Given the description of an element on the screen output the (x, y) to click on. 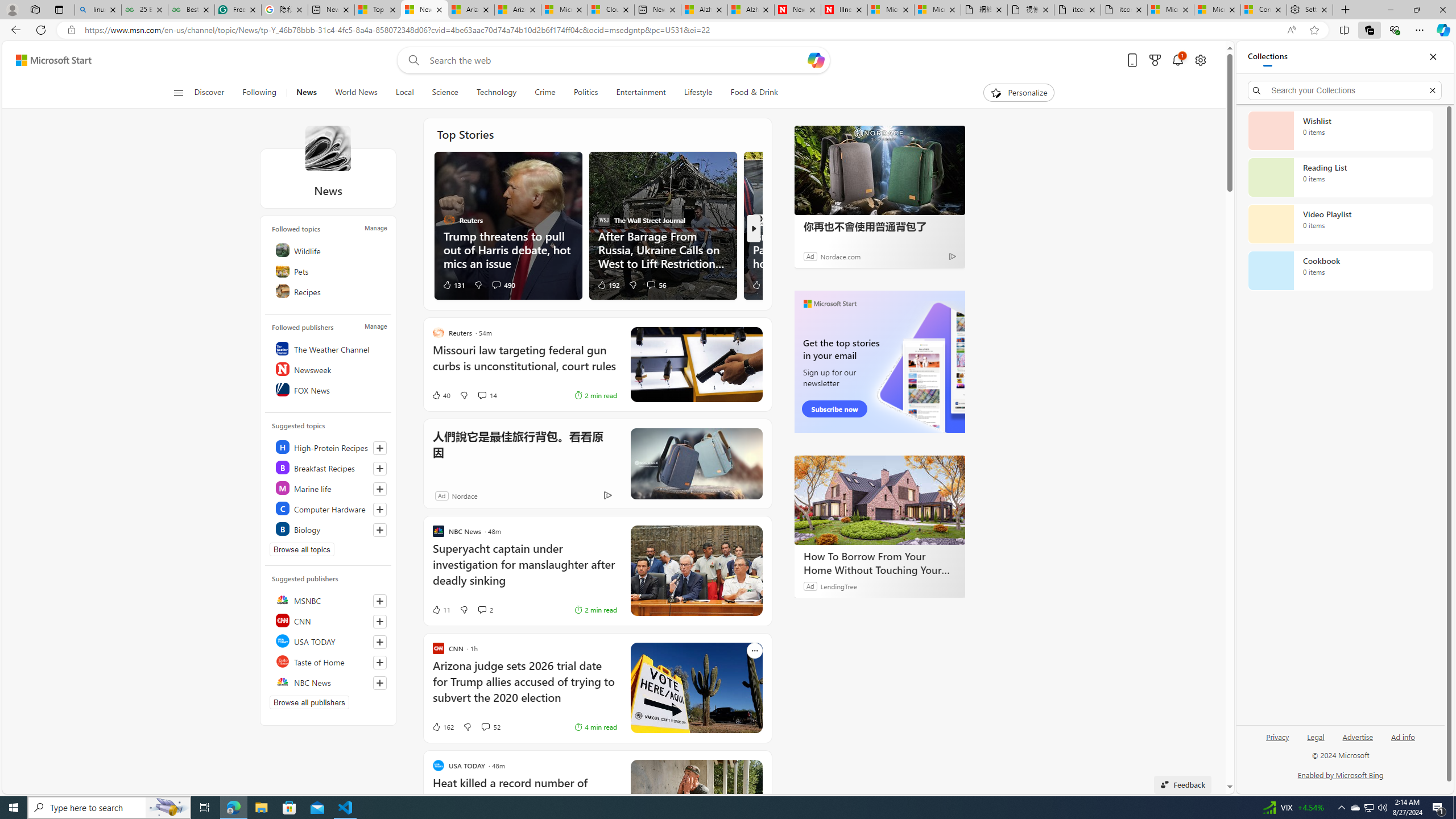
162 Like (442, 726)
View comments 56 Comment (650, 284)
Technology (496, 92)
Cookbook collection, 0 items (1339, 270)
Consumer Health Data Privacy Policy (1263, 9)
Crime (544, 92)
Search your Collections (1345, 90)
Entertainment (640, 92)
Dislike (466, 726)
USA TODAY (328, 641)
